Given the description of an element on the screen output the (x, y) to click on. 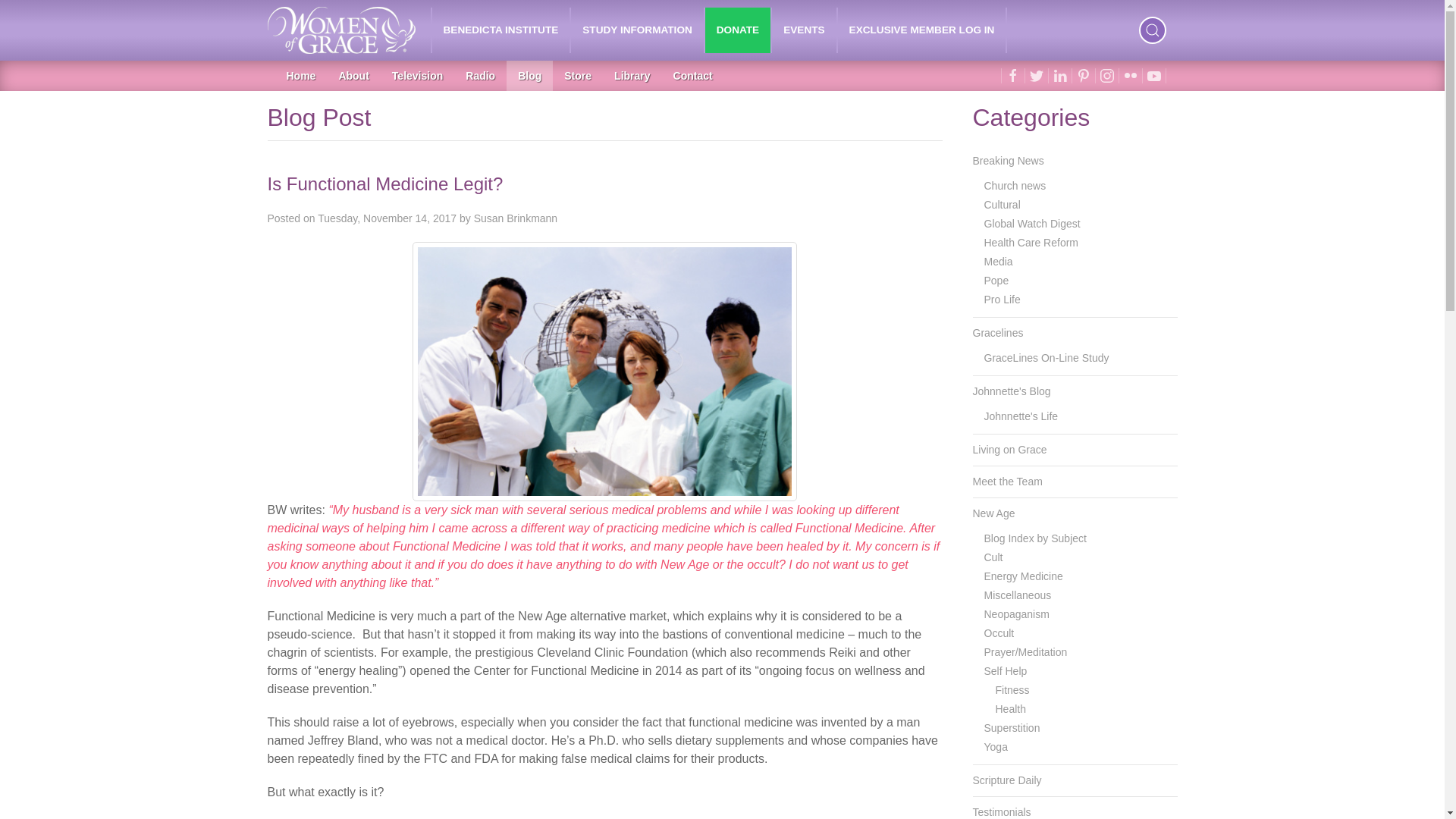
Television (417, 75)
Home (300, 75)
EVENTS (803, 30)
 7:57 am (387, 218)
Contact (692, 75)
Library (631, 75)
DONATE (737, 30)
View all posts by Susan Brinkmann (515, 218)
BENEDICTA INSTITUTE (501, 30)
Radio (480, 75)
